Given the description of an element on the screen output the (x, y) to click on. 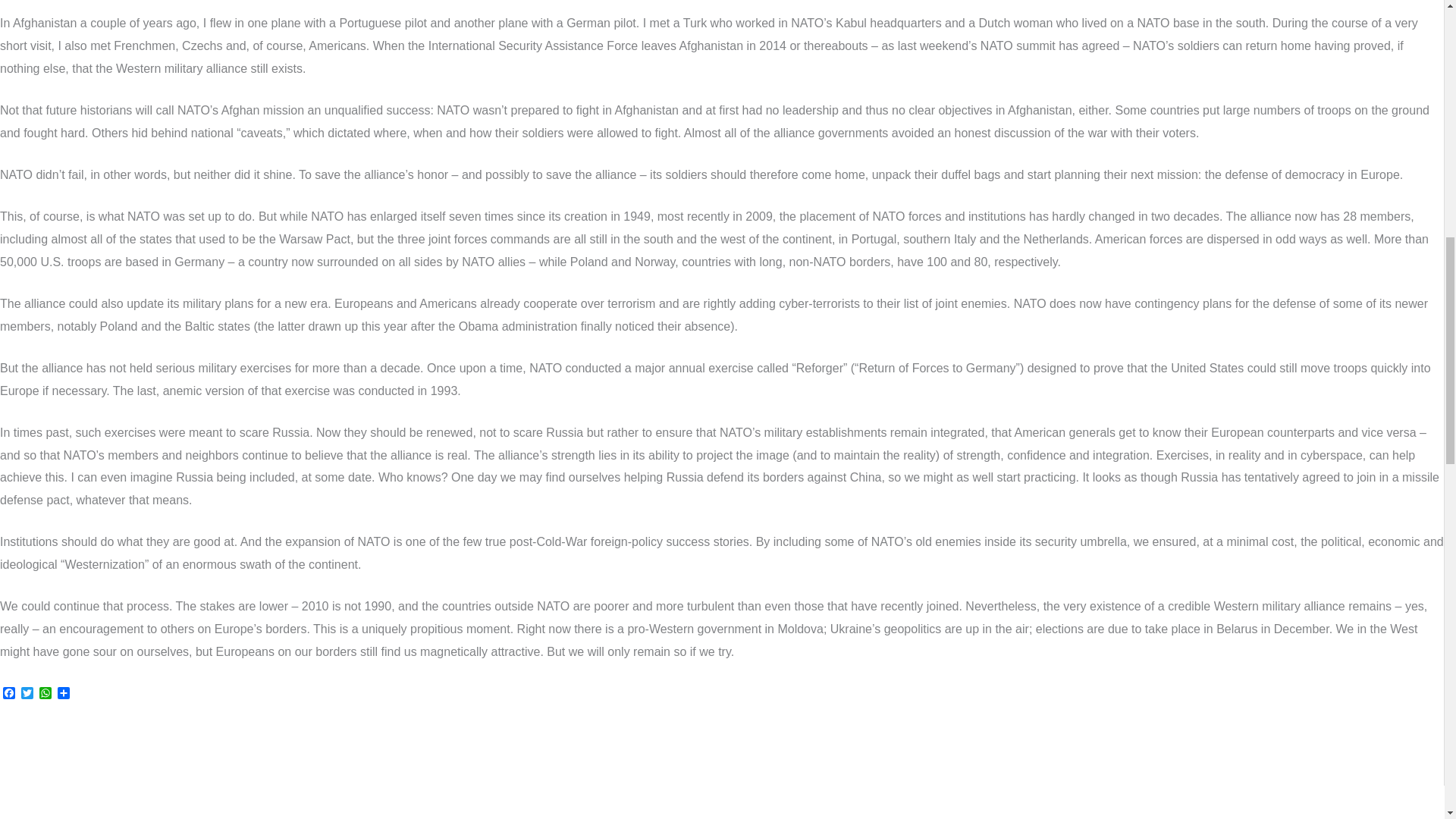
WhatsApp (45, 694)
Twitter (26, 694)
Facebook (8, 694)
